Given the description of an element on the screen output the (x, y) to click on. 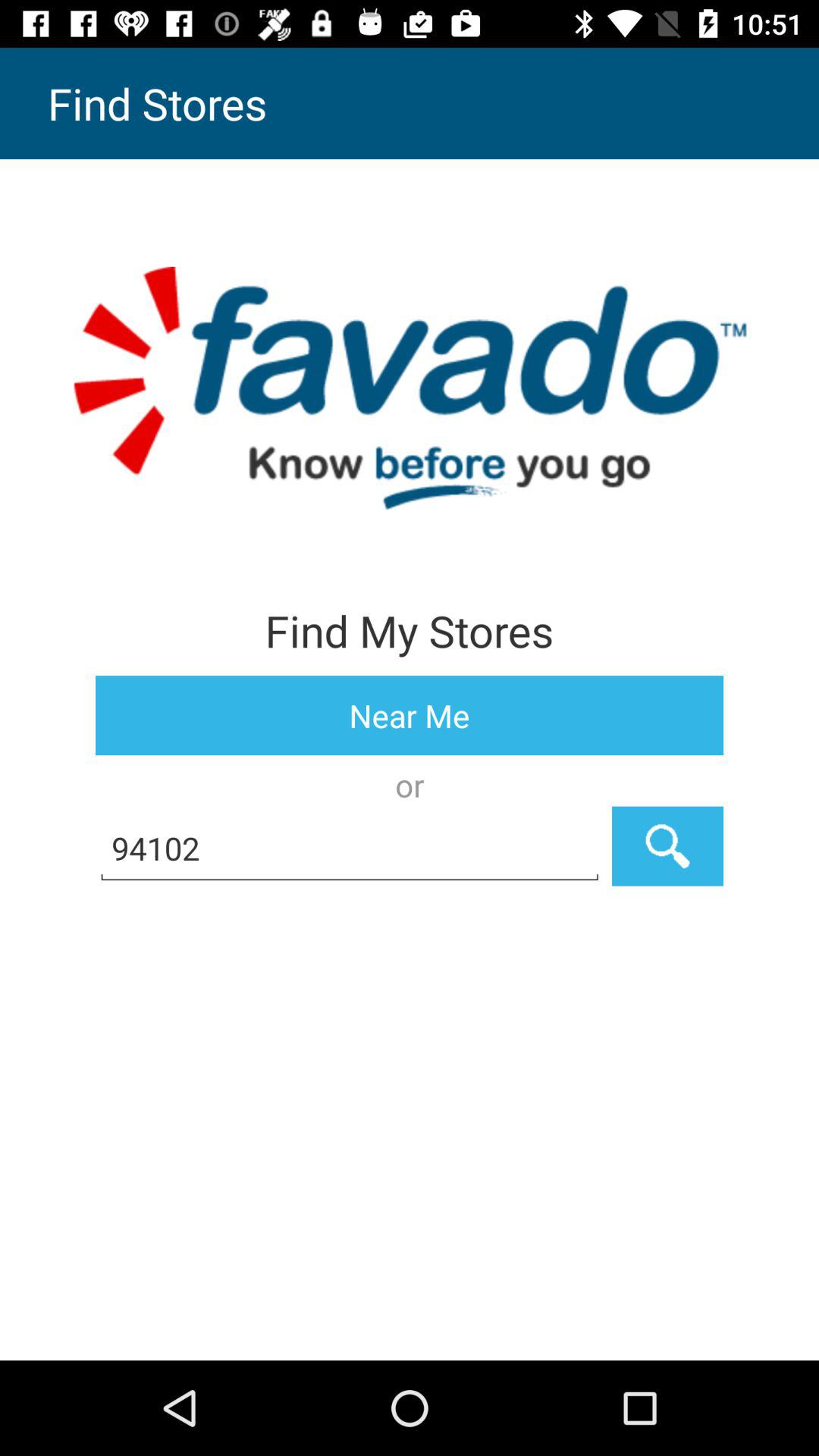
tap the near me (409, 715)
